Given the description of an element on the screen output the (x, y) to click on. 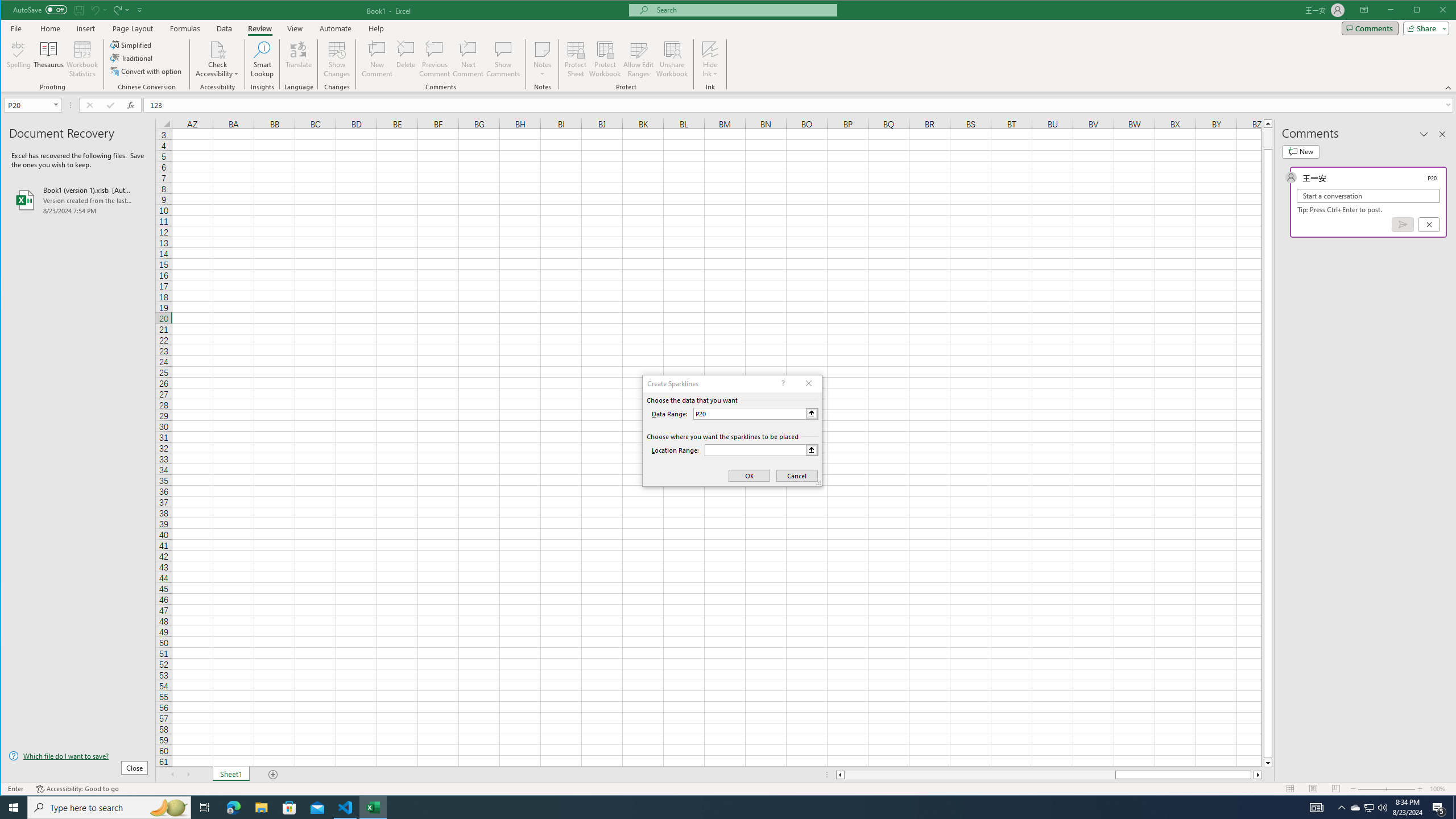
Task Pane Options (1423, 133)
Accessibility Checker Accessibility: Good to go (77, 788)
Data (224, 28)
Zoom In (1420, 788)
Insert (85, 28)
Column left (839, 774)
Comments (1369, 28)
Translate (298, 59)
Share (1423, 27)
Page right (1251, 774)
Start a conversation (1368, 195)
Maximize (1432, 11)
Cancel (1428, 224)
